Given the description of an element on the screen output the (x, y) to click on. 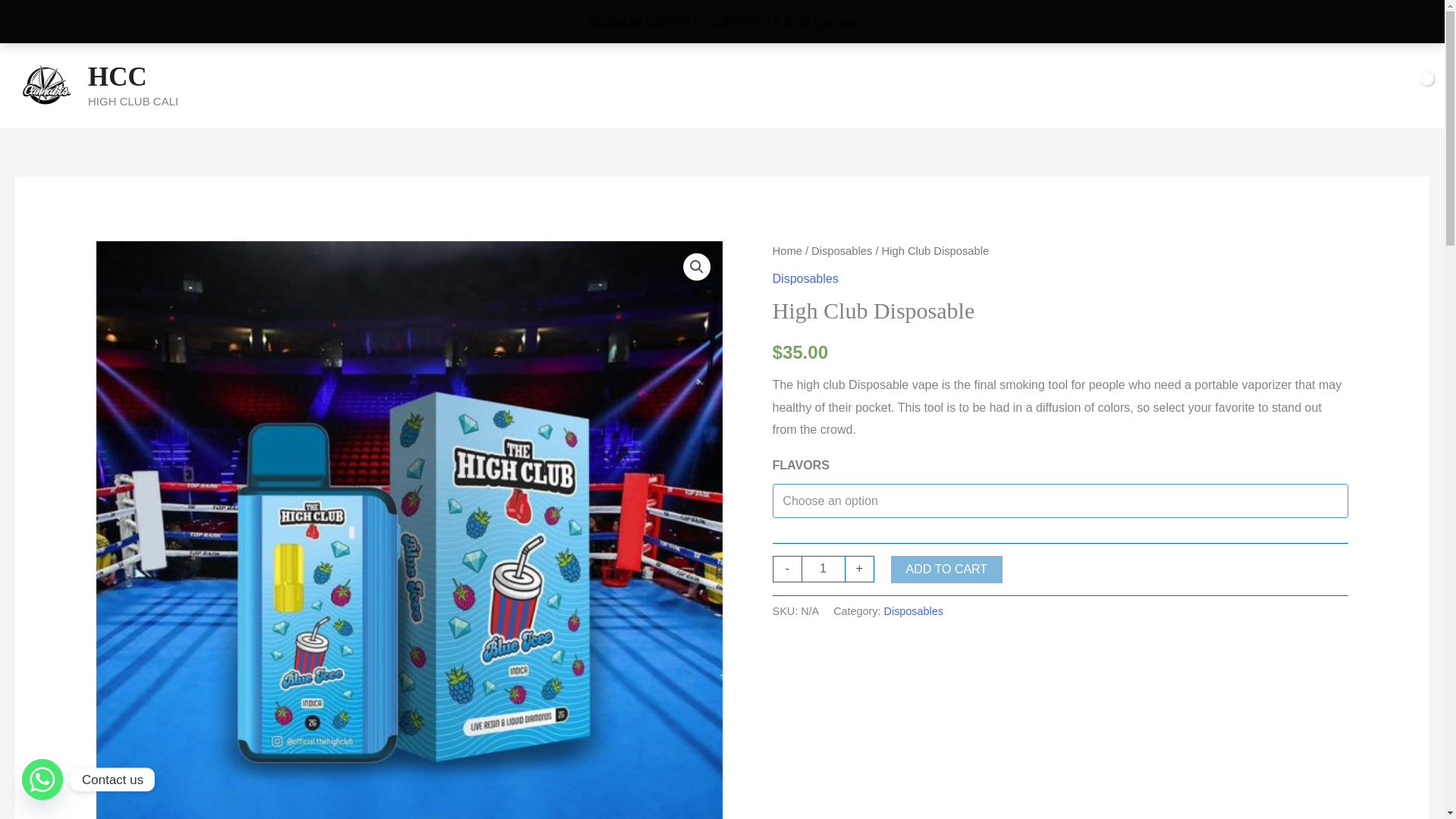
SHOP (615, 85)
1 (823, 569)
ABOUT HCC (700, 85)
CONTACT (788, 85)
HCC (117, 76)
VAPE NEWS (877, 85)
HOME (548, 85)
